Given the description of an element on the screen output the (x, y) to click on. 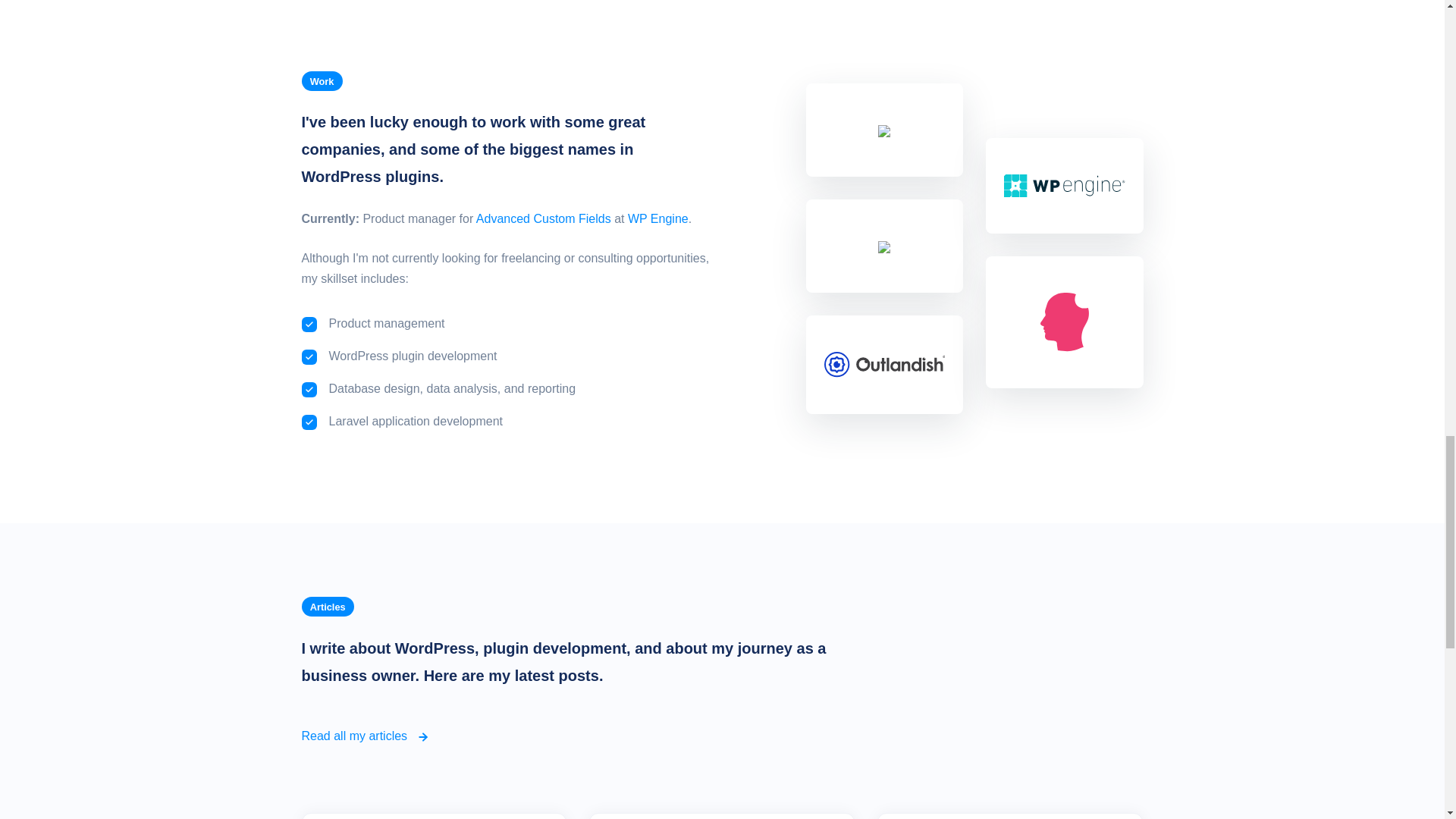
Saturday Drive (883, 245)
WP Engine (1064, 184)
Read all my articles (365, 735)
Advanced Custom Fields (543, 218)
Delicious Brains (1065, 320)
Outlandish (884, 363)
Advanced Custom Fields (883, 129)
WP Engine (657, 218)
